Given the description of an element on the screen output the (x, y) to click on. 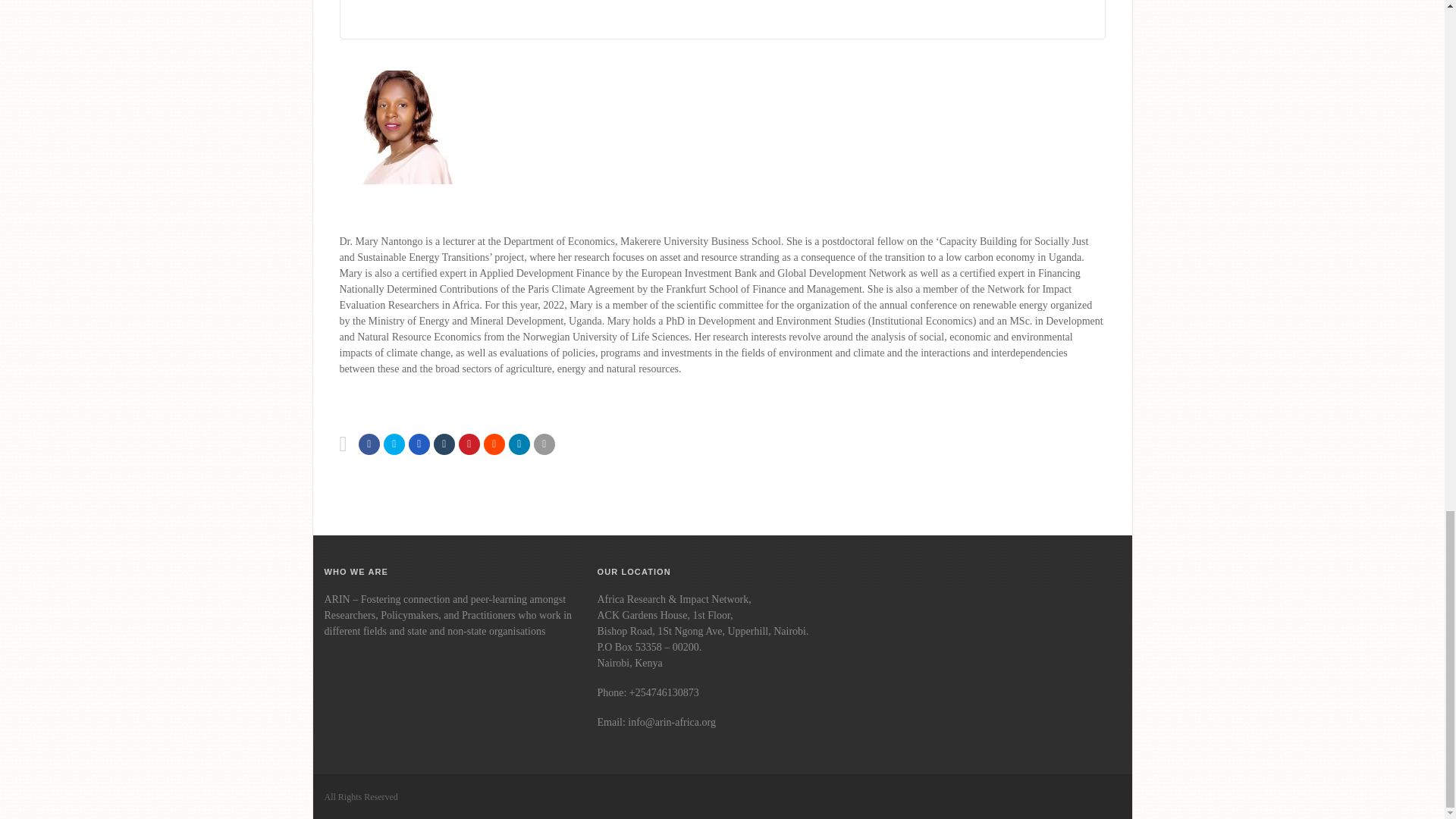
Submit to Reddit (494, 444)
Email (518, 444)
Share on Facebook (369, 444)
Post to Tumblr (443, 444)
Submit to Reddit (469, 444)
Email (544, 444)
Tweet (394, 444)
